Given the description of an element on the screen output the (x, y) to click on. 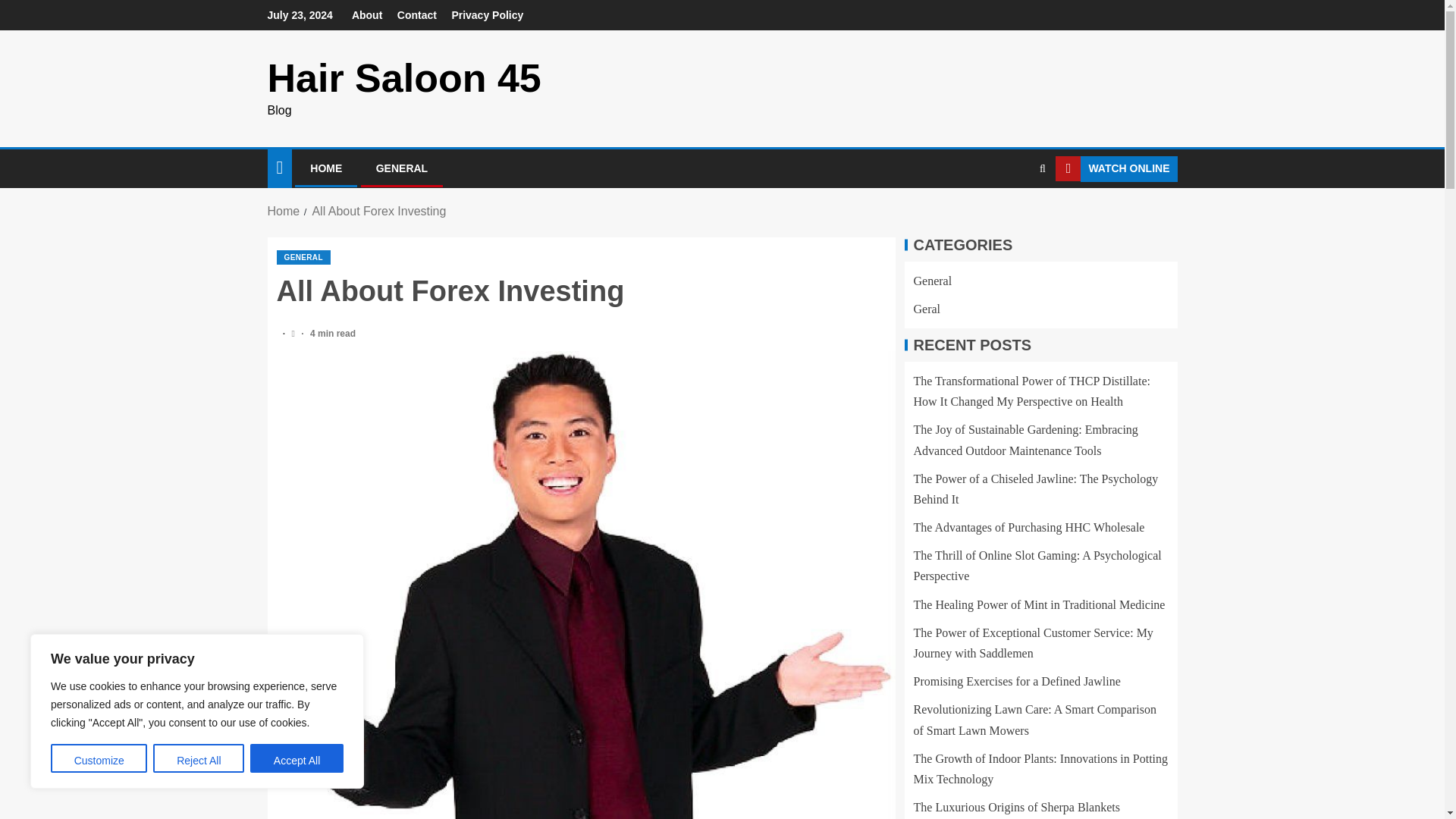
GENERAL (303, 257)
HOME (326, 168)
Contact (416, 15)
About (366, 15)
GENERAL (401, 168)
WATCH ONLINE (1115, 168)
Customize (98, 758)
Hair Saloon 45 (403, 77)
Search (1041, 168)
Accept All (296, 758)
Home (282, 210)
Privacy Policy (486, 15)
All About Forex Investing (378, 210)
Reject All (198, 758)
